Given the description of an element on the screen output the (x, y) to click on. 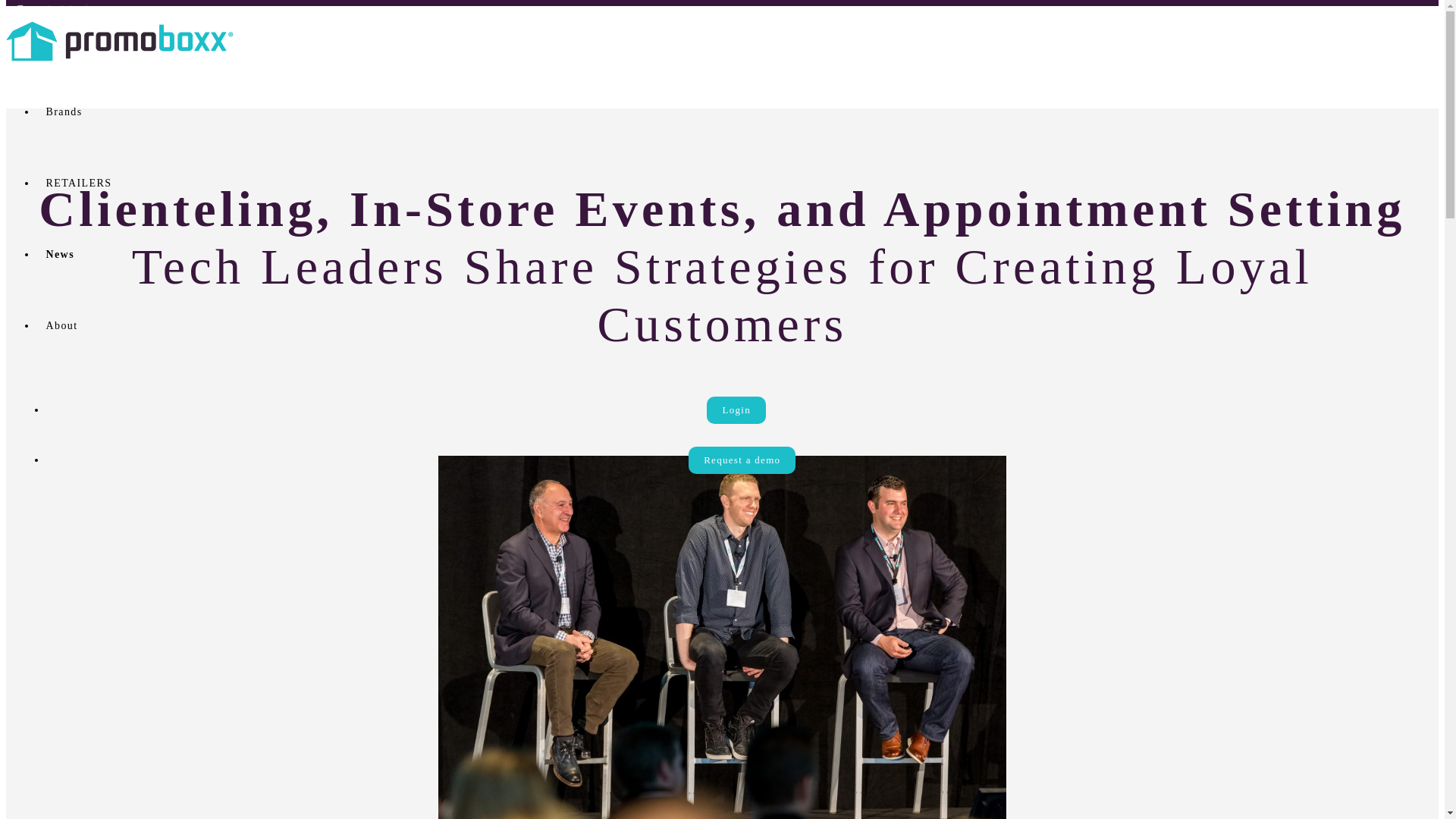
RETAILERS (78, 183)
PROMOBOXX V. DAMS (89, 21)
About (61, 325)
Testimonials (52, 48)
Request a demo (741, 460)
CASE STUDIES (63, 48)
Join Our Team (57, 36)
Company (41, 9)
Brands (63, 111)
Login (735, 410)
News (59, 254)
Paid Ads (41, 0)
SIGN UP NOW (60, 21)
How It Works (55, 9)
Contact Us (47, 48)
